Given the description of an element on the screen output the (x, y) to click on. 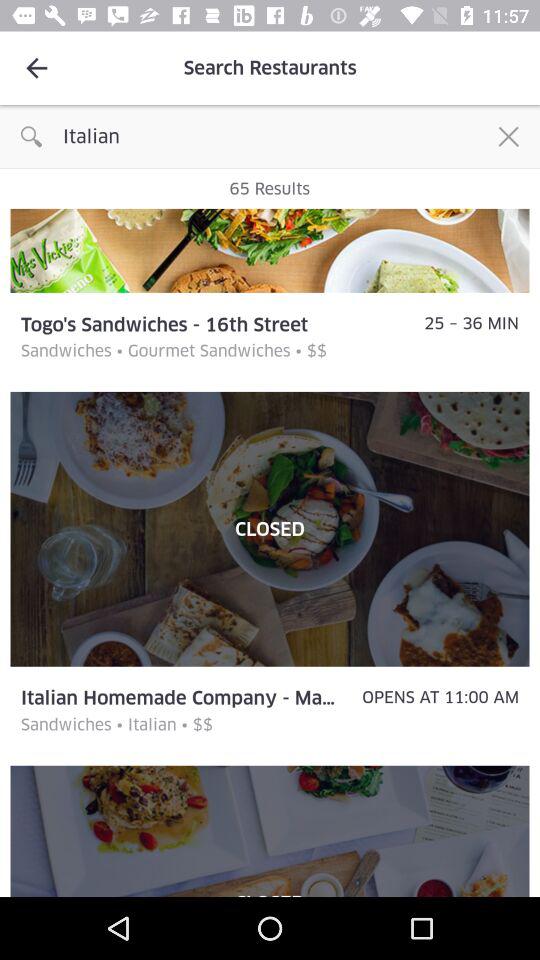
open icon at the top right corner (508, 136)
